Given the description of an element on the screen output the (x, y) to click on. 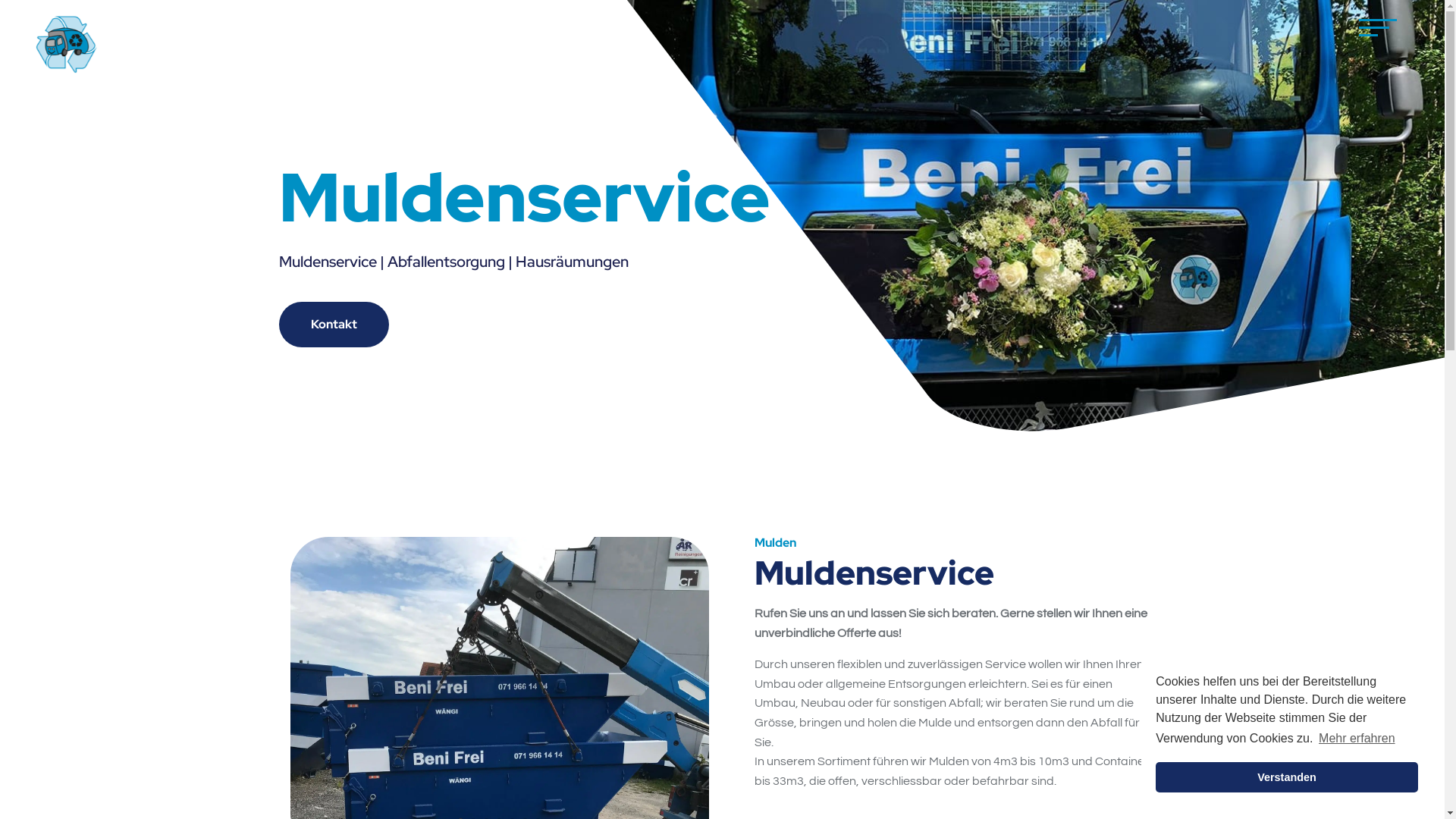
8f44f5bd78b241f6bb65b099f4c2b663_medium Element type: hover (66, 44)
Kontakt Element type: text (334, 324)
Mehr erfahren Element type: text (1356, 738)
Verstanden Element type: text (1286, 777)
